Given the description of an element on the screen output the (x, y) to click on. 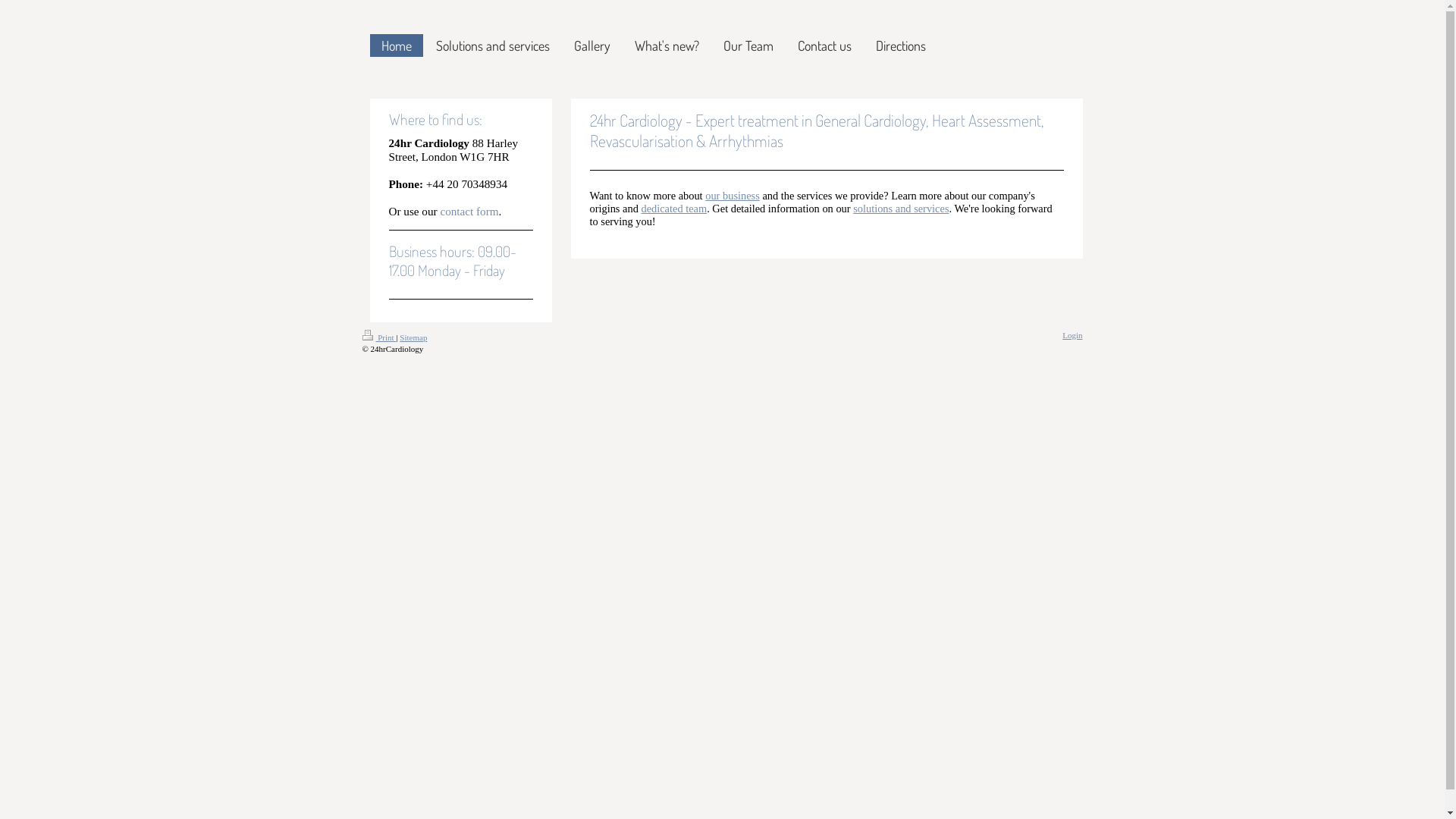
solutions and services Element type: text (900, 208)
Sitemap Element type: text (412, 337)
dedicated team Element type: text (673, 208)
Contact us Element type: text (823, 45)
our business Element type: text (732, 195)
Directions Element type: text (900, 45)
Home Element type: text (396, 45)
contact form Element type: text (468, 210)
Print Element type: text (379, 337)
Our Team Element type: text (747, 45)
Solutions and services Element type: text (492, 45)
Gallery Element type: text (591, 45)
Login Element type: text (1072, 334)
What's new? Element type: text (666, 45)
